Given the description of an element on the screen output the (x, y) to click on. 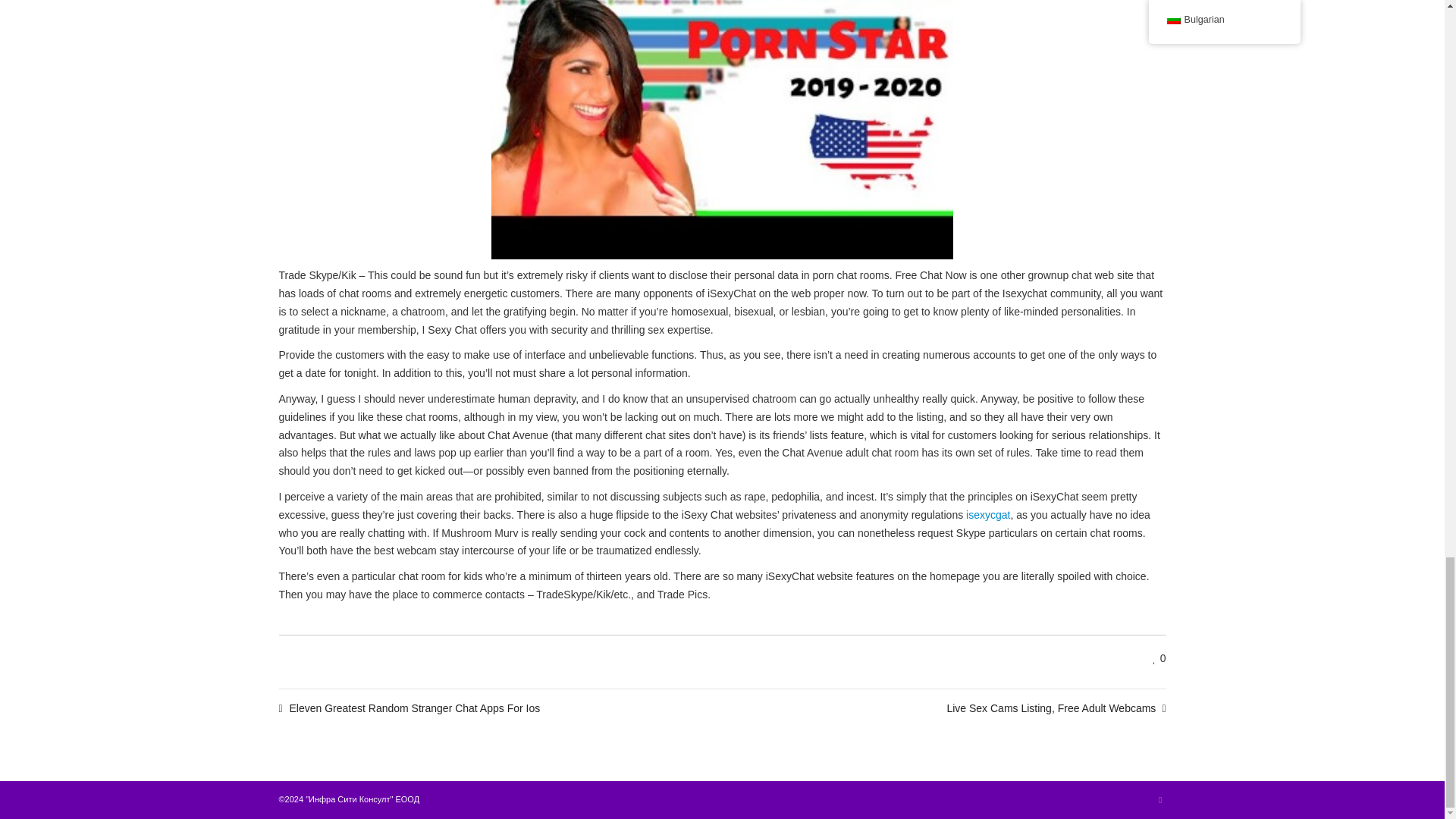
Live Sex Cams Listing, Free Adult Webcams (1056, 707)
Eleven Greatest Random Stranger Chat Apps For Ios (409, 707)
isexycgat (988, 514)
